Given the description of an element on the screen output the (x, y) to click on. 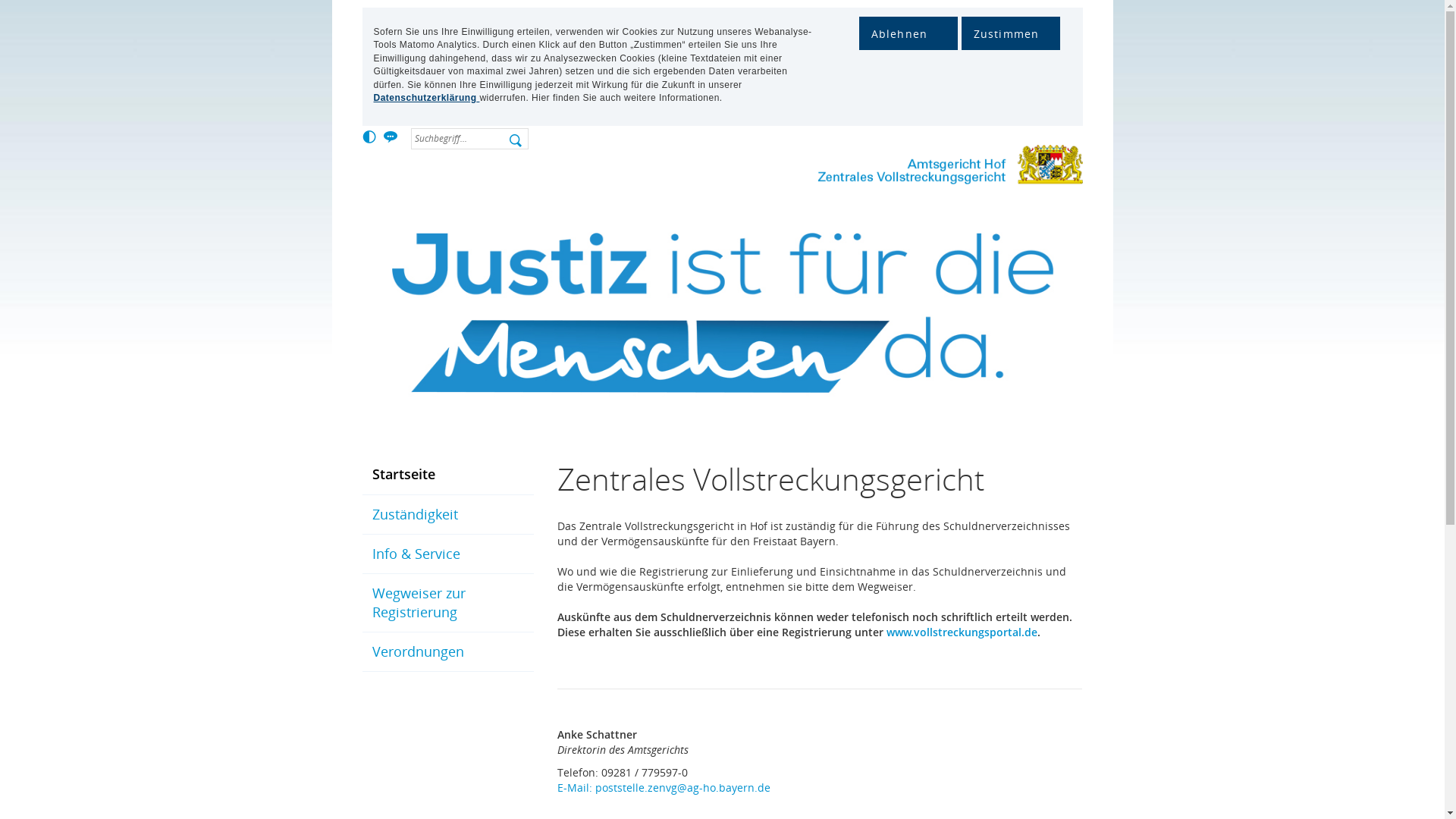
Ablehnen Element type: text (907, 33)
Suche starten Element type: hover (517, 143)
Wegweiser zur Registrierung Element type: text (447, 602)
E-Mail: poststelle.zenvg@ag-ho.bayern.de Element type: text (663, 787)
Suchen Element type: text (517, 143)
www.vollstreckungsportal.de Element type: text (961, 631)
Verordnungen Element type: text (447, 651)
Seite vorlesen lassen [Alt-L] Element type: hover (390, 137)
Zustimmen Element type: text (1010, 33)
Startseite Element type: text (447, 474)
Zentrales Vollstreckungsgericht Element type: text (949, 169)
Info & Service Element type: text (447, 553)
